Given the description of an element on the screen output the (x, y) to click on. 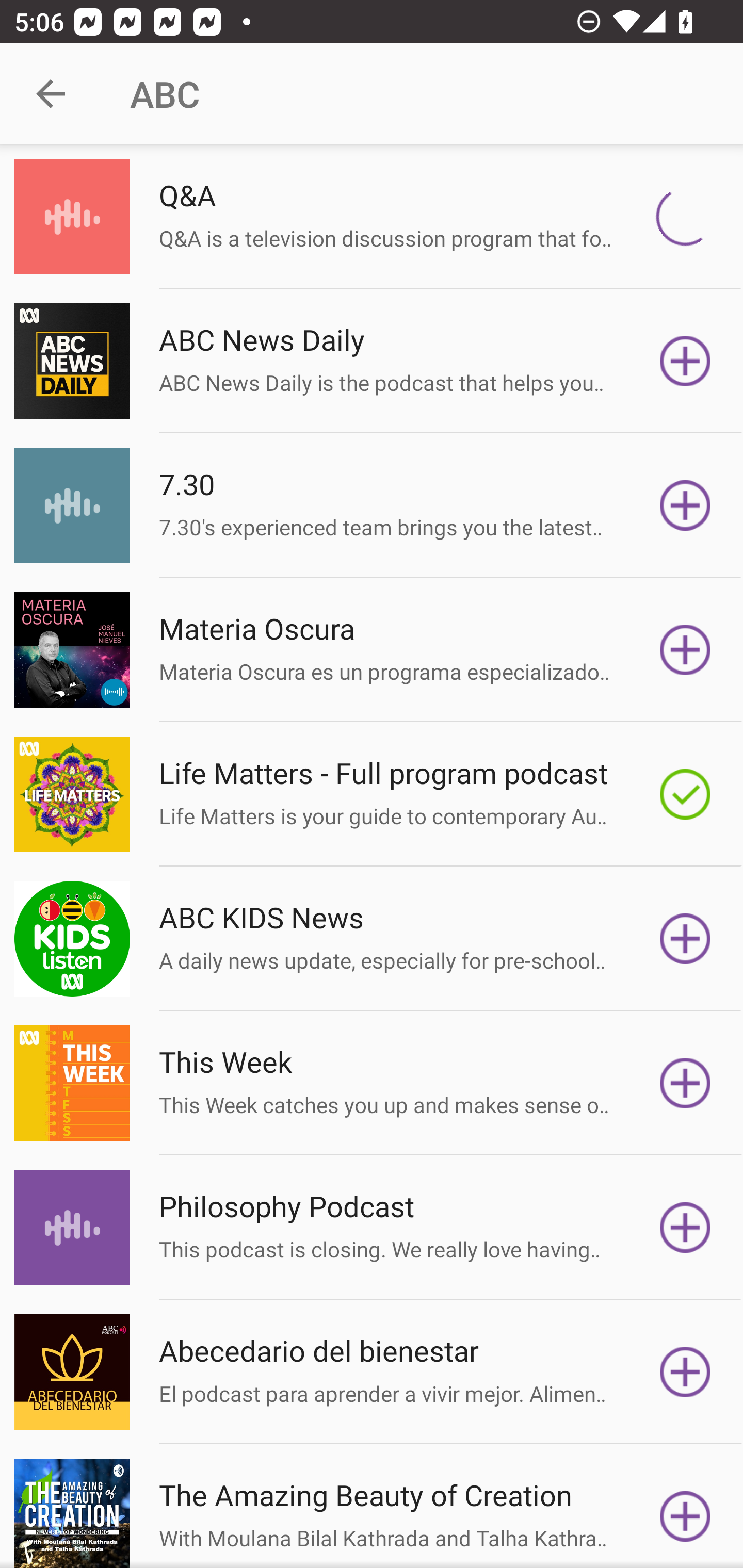
Navigate up (50, 93)
Subscribe (685, 216)
Subscribe (685, 360)
Subscribe (685, 505)
Subscribe (685, 649)
Subscribed (685, 793)
Subscribe (685, 939)
Subscribe (685, 1083)
Subscribe (685, 1227)
Subscribe (685, 1371)
Subscribe (685, 1513)
